Given the description of an element on the screen output the (x, y) to click on. 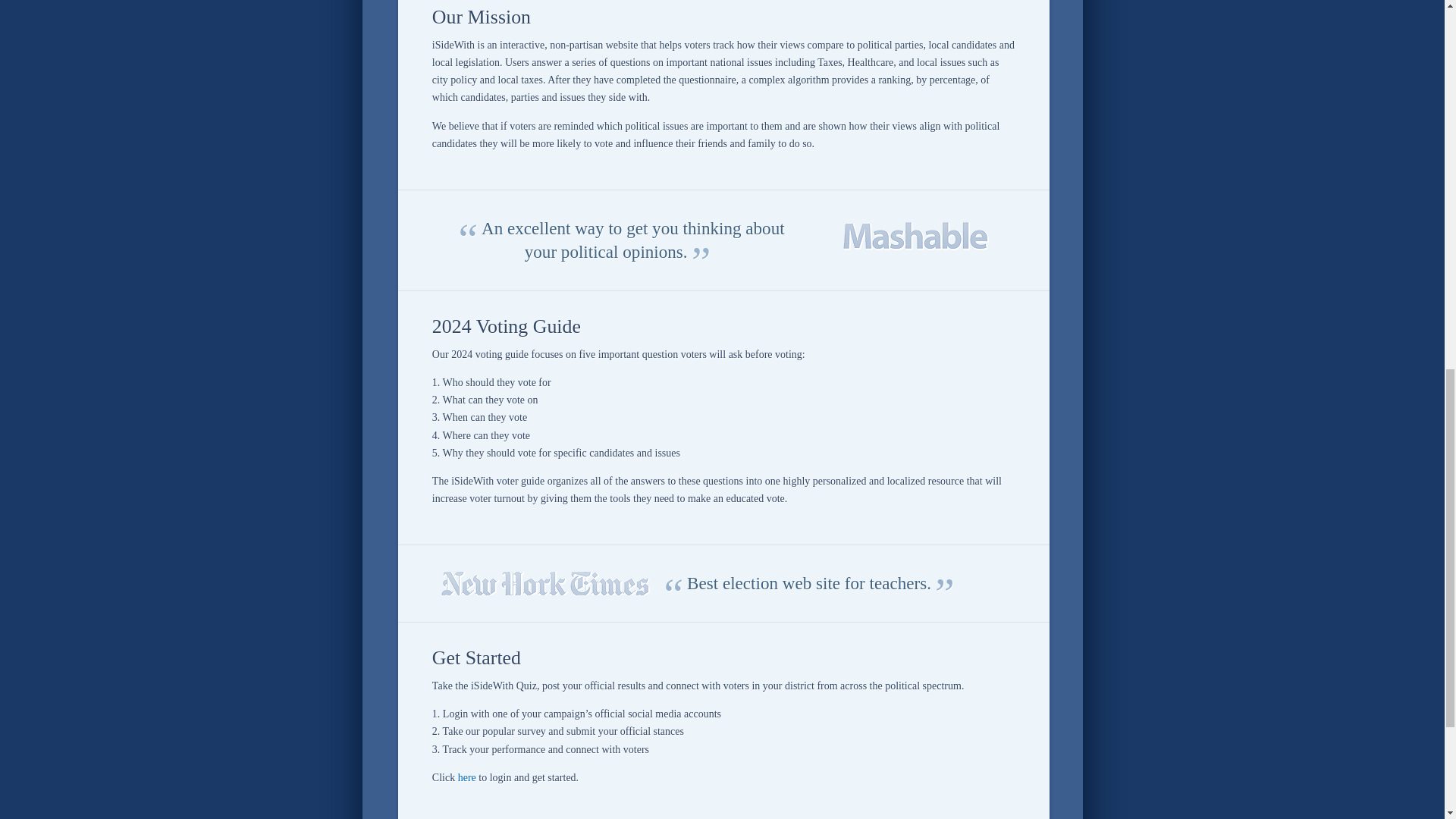
here (467, 777)
